Given the description of an element on the screen output the (x, y) to click on. 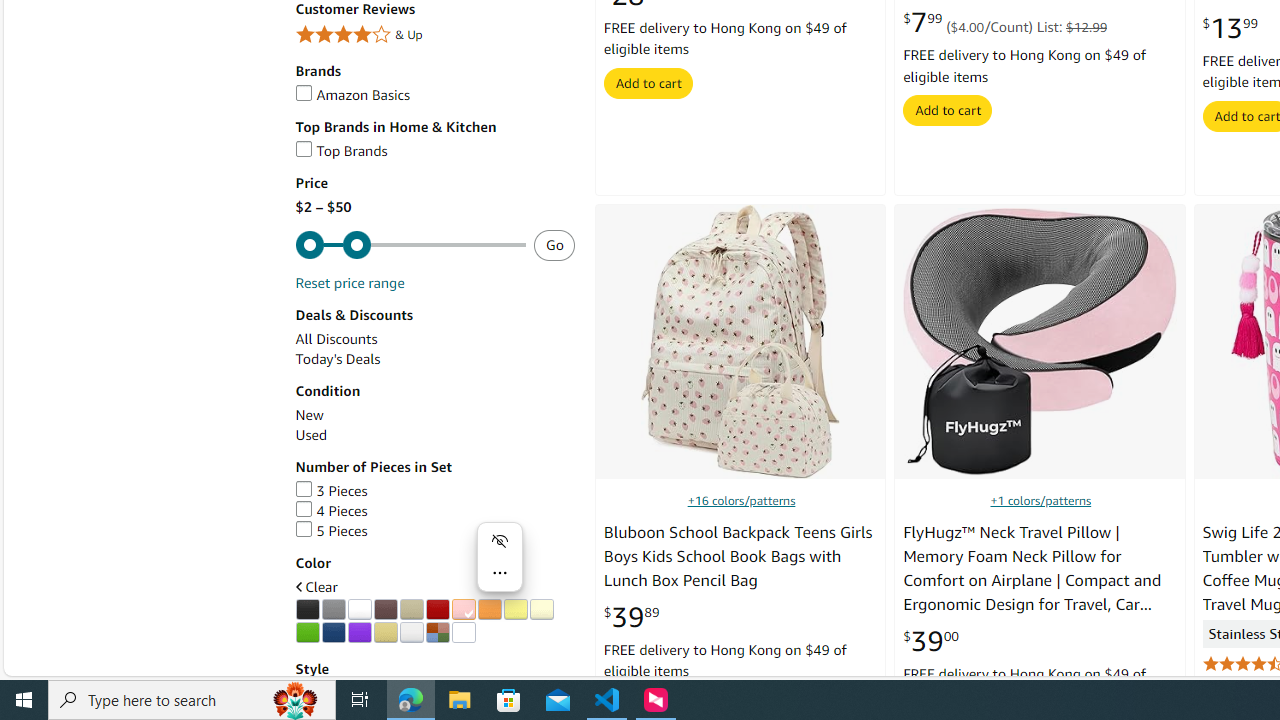
AutomationID: p_n_feature_twenty_browse-bin/3254113011 (437, 632)
AutomationID: p_n_feature_twenty_browse-bin/3254102011 (411, 609)
Black (307, 609)
Red (437, 609)
Hide menu (499, 540)
AutomationID: p_n_feature_twenty_browse-bin/3254104011 (463, 609)
Purple (359, 632)
4 Stars & Up (434, 35)
Today's Deals (434, 359)
Ivory (541, 609)
3 Pieces (331, 490)
New (308, 415)
Skip to main search results (88, 666)
All Discounts (434, 339)
